Given the description of an element on the screen output the (x, y) to click on. 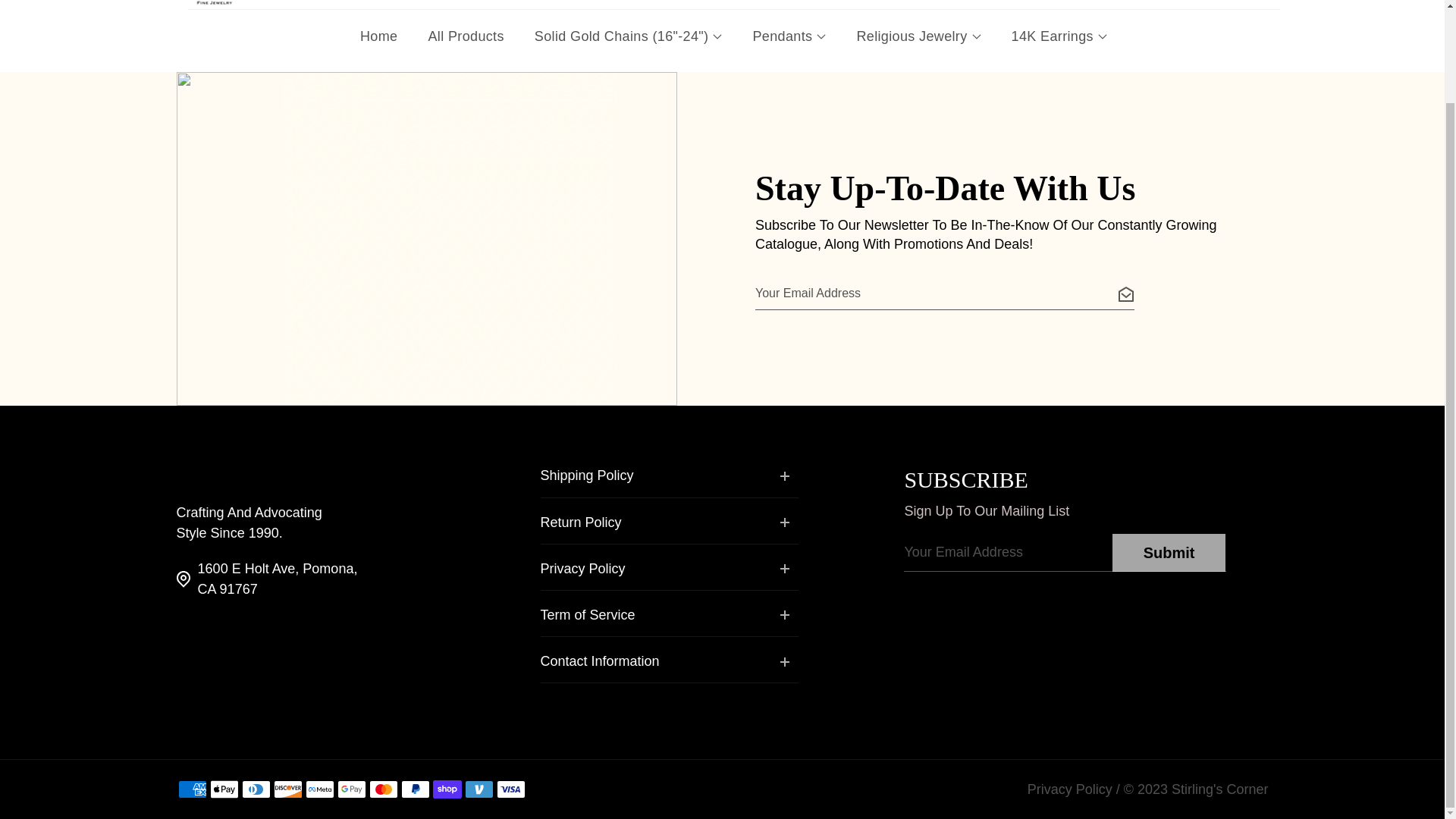
American Express (191, 789)
Discover (287, 789)
PayPal (414, 789)
Religious Jewelry (917, 34)
Diners Club (255, 789)
All Products (465, 34)
Shop Pay (446, 789)
Religious Jewelry (917, 34)
Meta Pay (318, 789)
Home (378, 34)
Apple Pay (223, 789)
Mastercard (382, 789)
14K Earrings (1058, 34)
Home (378, 34)
Pendants (788, 34)
